Given the description of an element on the screen output the (x, y) to click on. 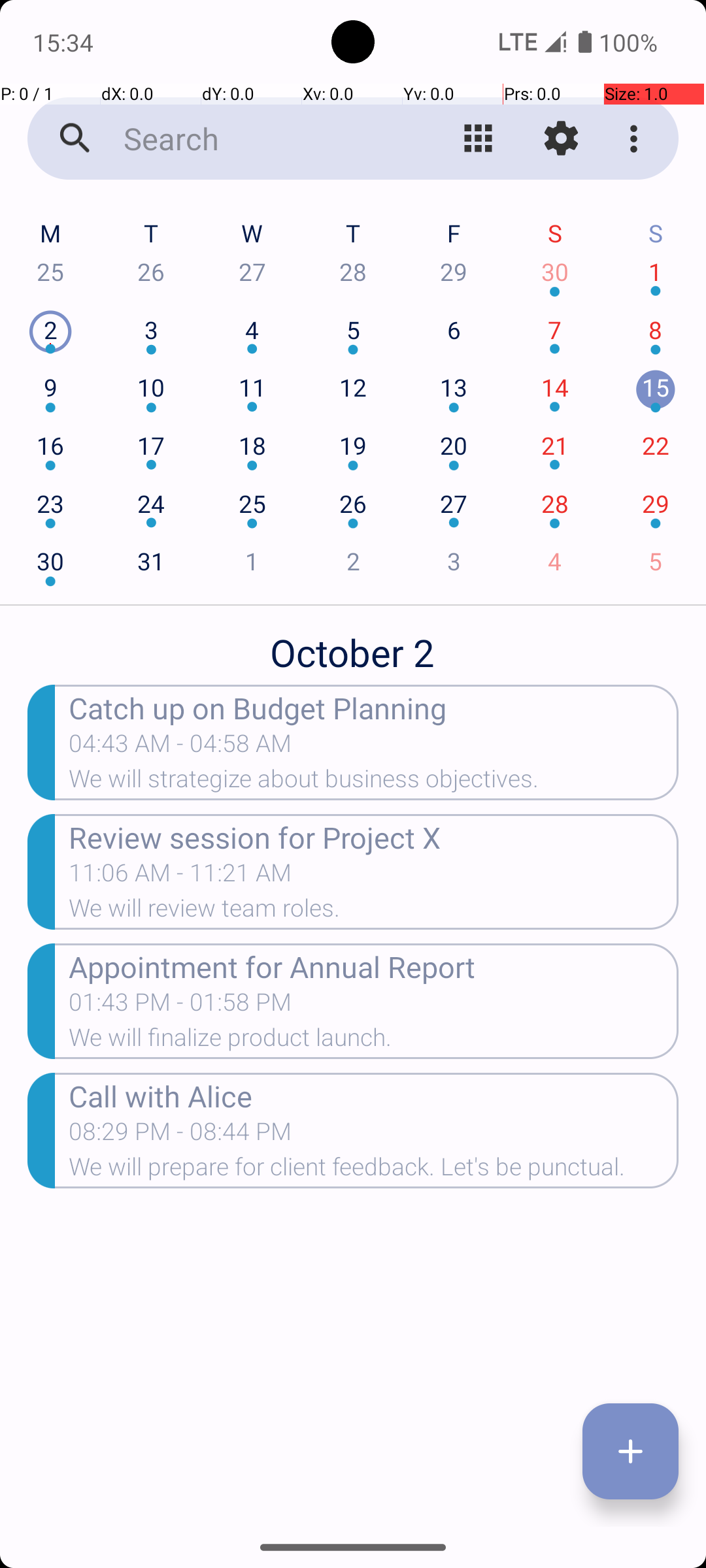
October 2 Element type: android.widget.TextView (352, 644)
04:43 AM - 04:58 AM Element type: android.widget.TextView (250, 747)
We will strategize about business objectives. Element type: android.widget.TextView (373, 782)
11:06 AM - 11:21 AM Element type: android.widget.TextView (250, 876)
We will review team roles. Element type: android.widget.TextView (373, 911)
01:43 PM - 01:58 PM Element type: android.widget.TextView (179, 1005)
We will finalize product launch. Element type: android.widget.TextView (373, 1041)
08:29 PM - 08:44 PM Element type: android.widget.TextView (179, 1135)
We will prepare for client feedback. Let's be punctual. Element type: android.widget.TextView (373, 1170)
